Given the description of an element on the screen output the (x, y) to click on. 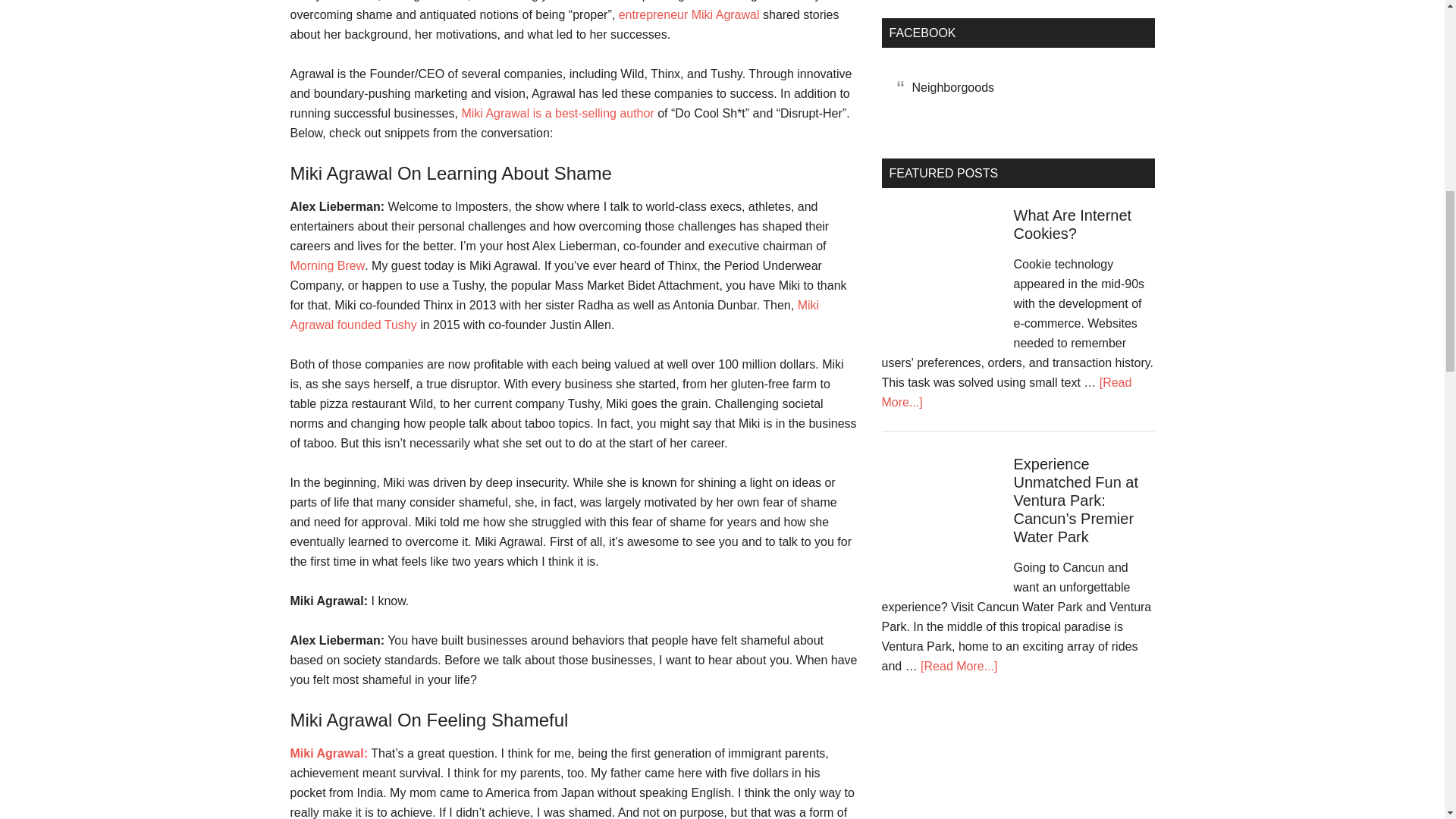
Neighborgoods (952, 87)
Miki Agrawal is a best-selling author (557, 113)
Morning Brew (327, 265)
Miki Agrawal: (328, 753)
Miki Agrawal founded Tushy (553, 314)
entrepreneur Miki Agrawal (689, 14)
